Given the description of an element on the screen output the (x, y) to click on. 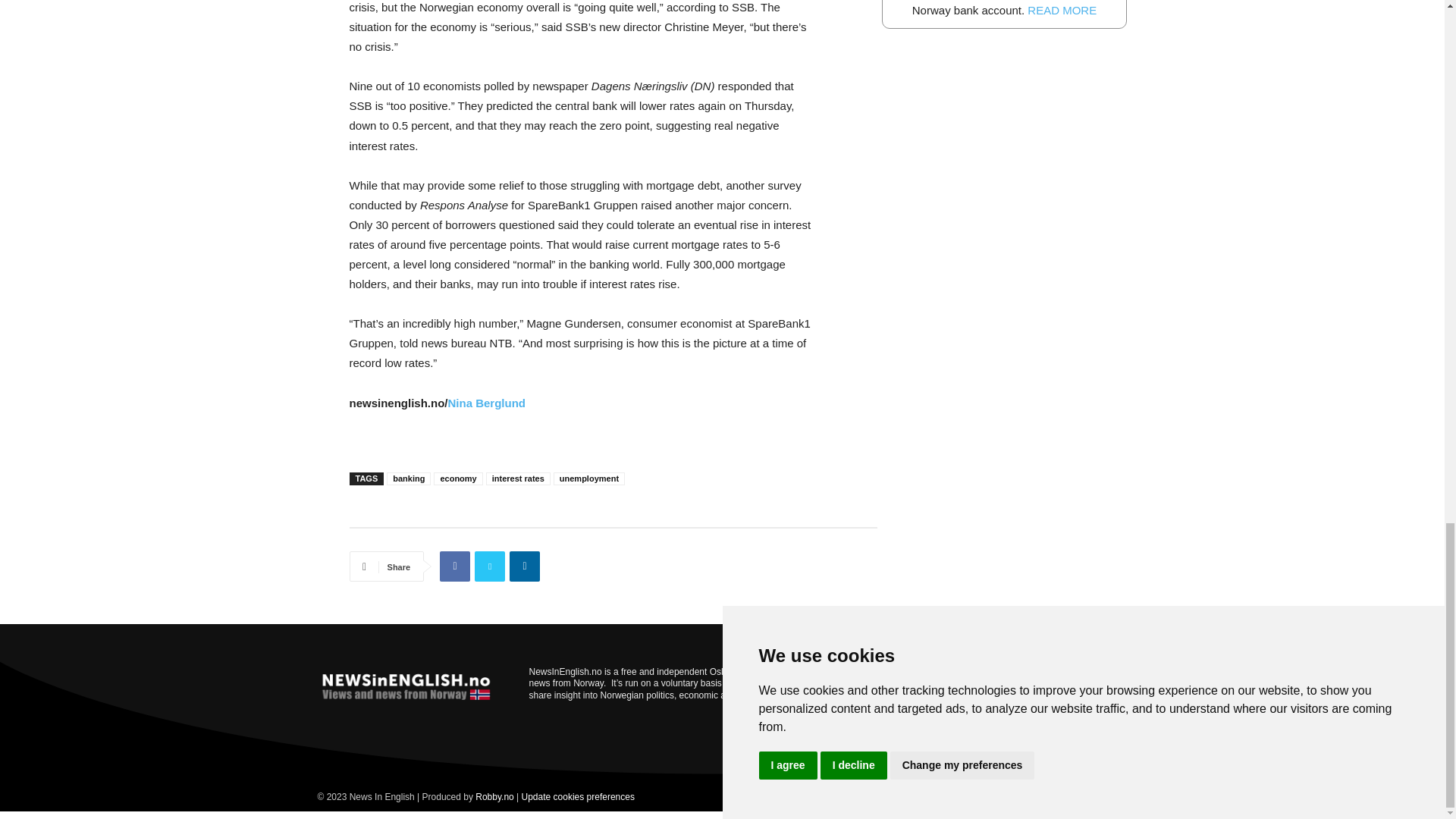
Twitter (489, 566)
Linkedin (524, 566)
Facebook (454, 566)
